Given the description of an element on the screen output the (x, y) to click on. 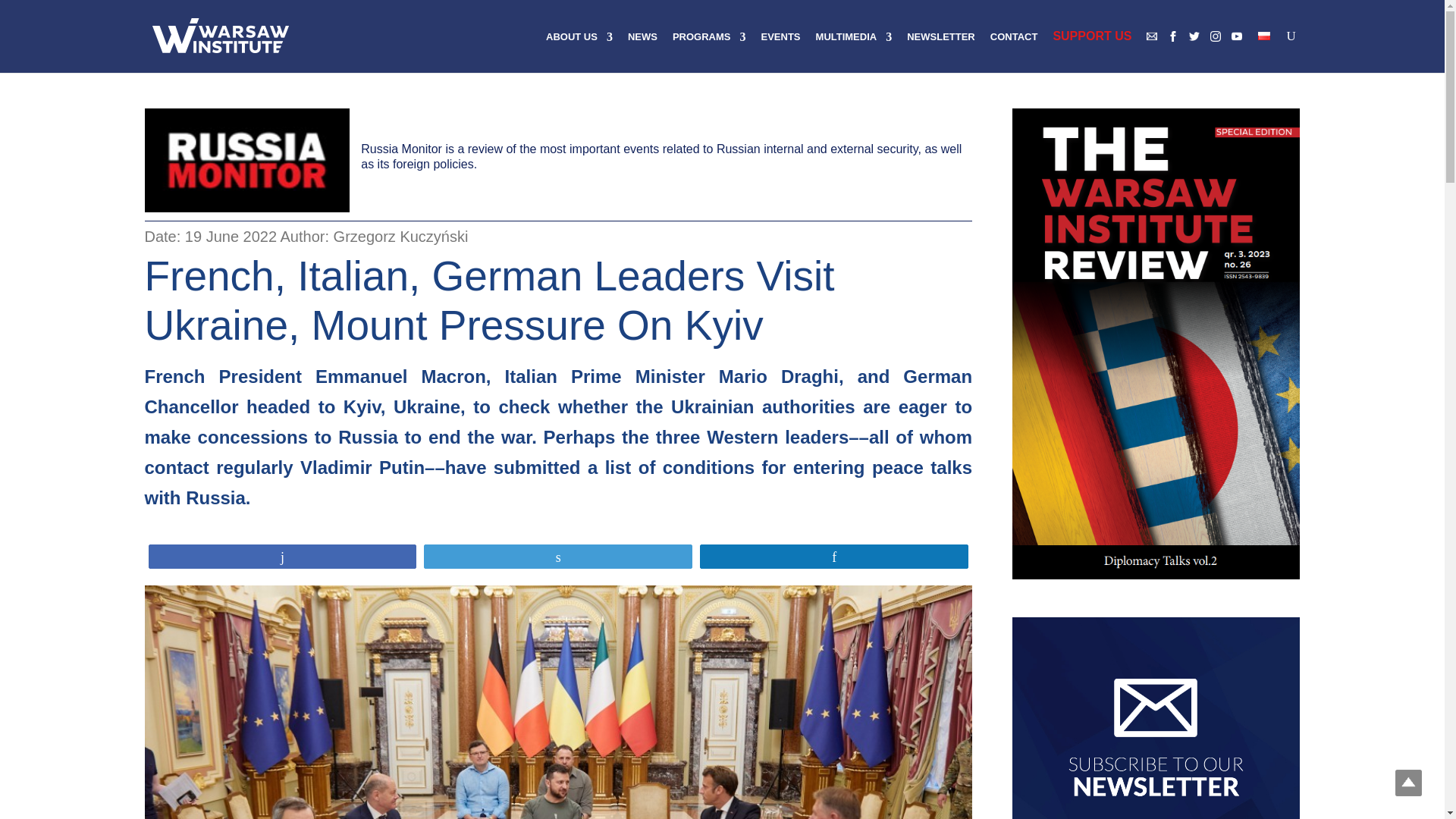
EVENTS (780, 51)
CONTACT (1014, 51)
FACEBOOK (1172, 36)
INSTAGRAM (1215, 36)
PROGRAMS (708, 51)
SUPPORT US (1091, 51)
MULTIMEDIA (853, 51)
TWITTER (1194, 36)
NEWSLETTER (941, 51)
ABOUT US (579, 51)
